Given the description of an element on the screen output the (x, y) to click on. 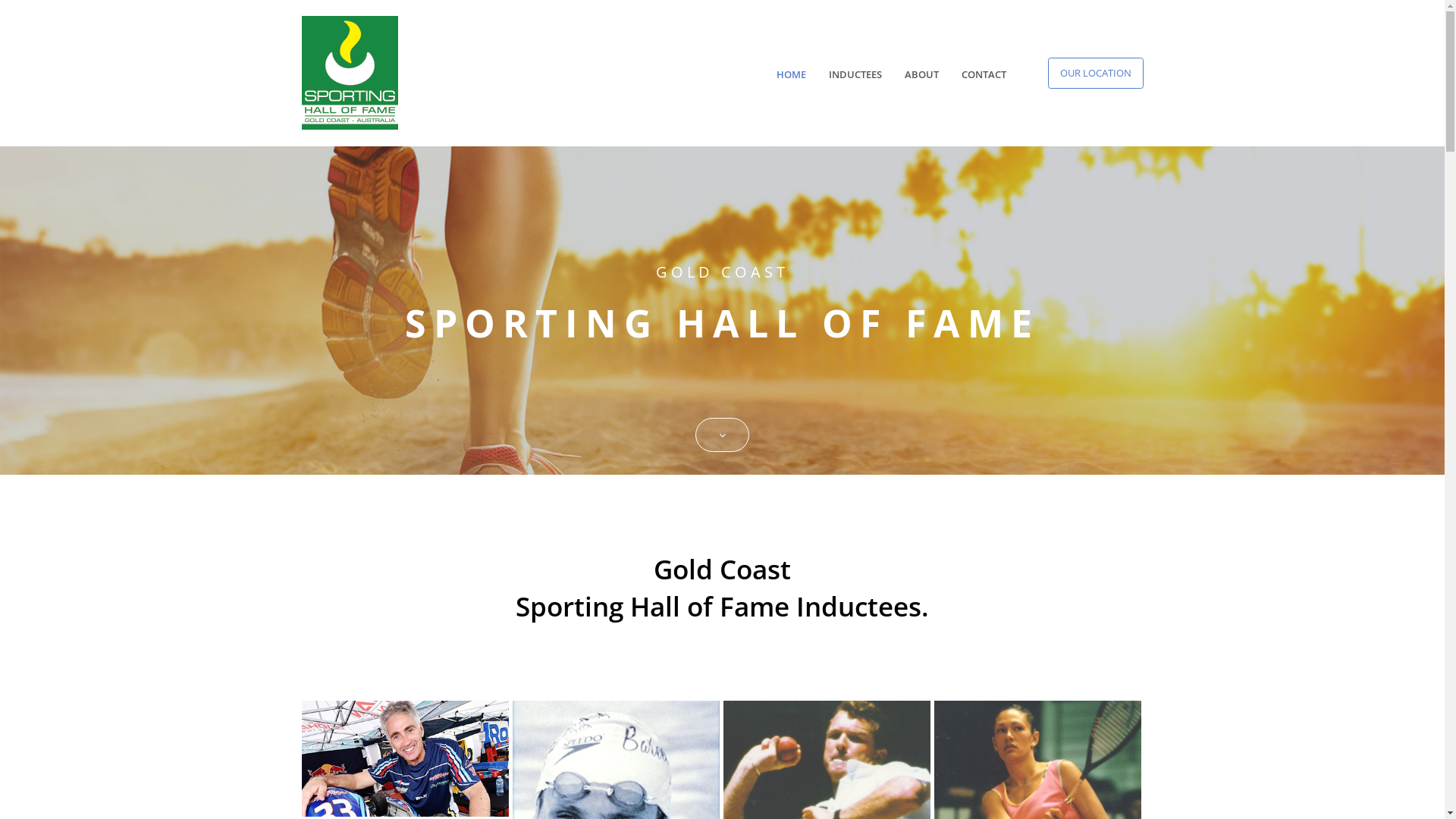
HOME Element type: text (791, 74)
ABOUT Element type: text (921, 74)
OUR LOCATION Element type: text (1095, 73)
INDUCTEES Element type: text (854, 74)
CONTACT Element type: text (983, 74)
